Given the description of an element on the screen output the (x, y) to click on. 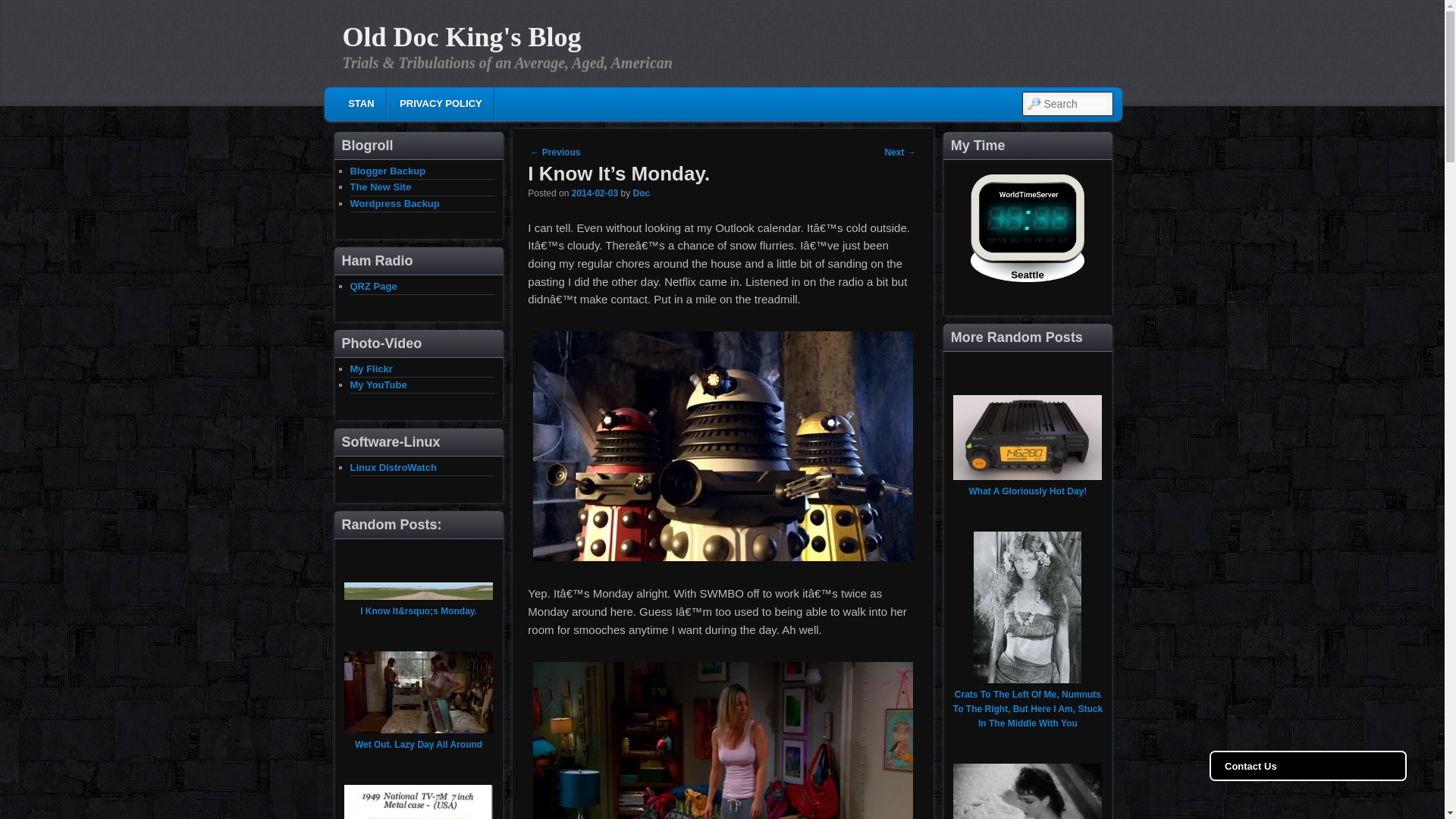
Linux DistroWatch (393, 467)
vlcsnap-00242 (723, 740)
Old Doc King's Blog (461, 37)
Blogger Backup (388, 170)
SKIP TO PRIMARY CONTENT (435, 106)
STAN (360, 103)
2153 (594, 193)
The New Site (381, 186)
Skip to primary content (435, 106)
Wet Out. Lazy Day All Around (418, 744)
My Flickr (371, 367)
Wordpress Backup (394, 203)
PRIVACY POLICY (440, 103)
2014-02-03 (594, 193)
Skip to secondary content (445, 106)
